Given the description of an element on the screen output the (x, y) to click on. 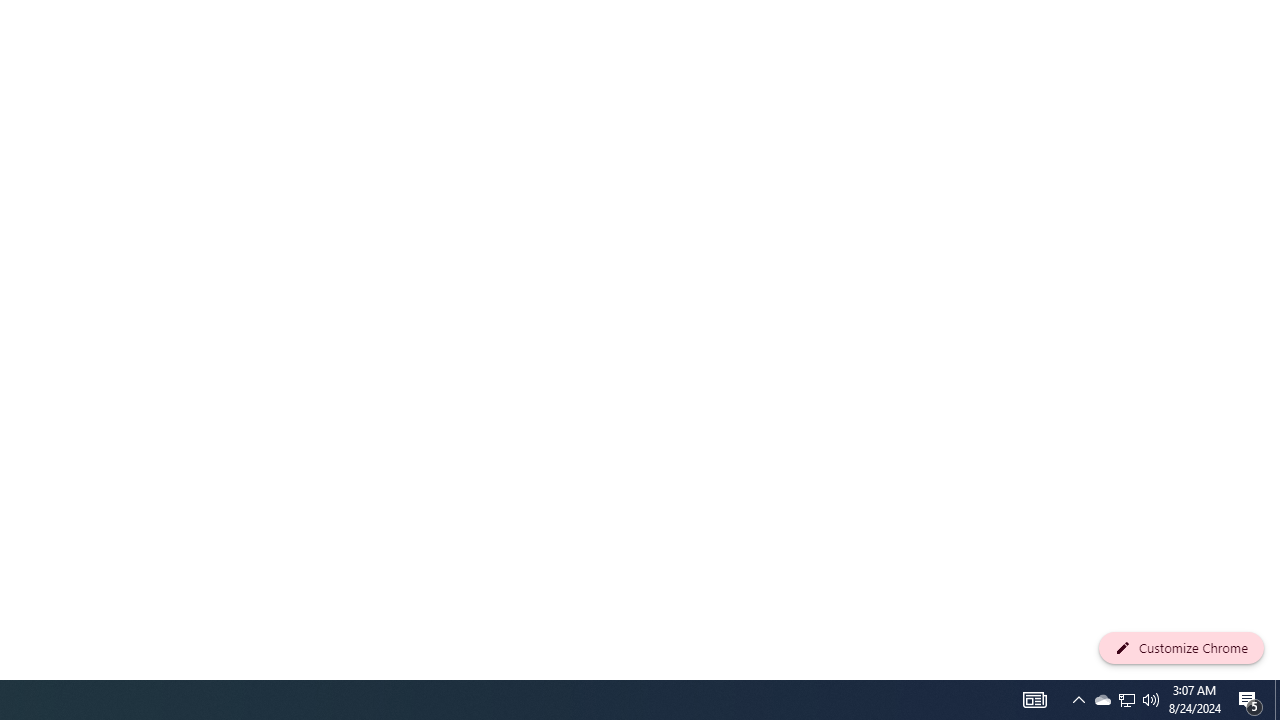
Customize Chrome (1181, 647)
